Given the description of an element on the screen output the (x, y) to click on. 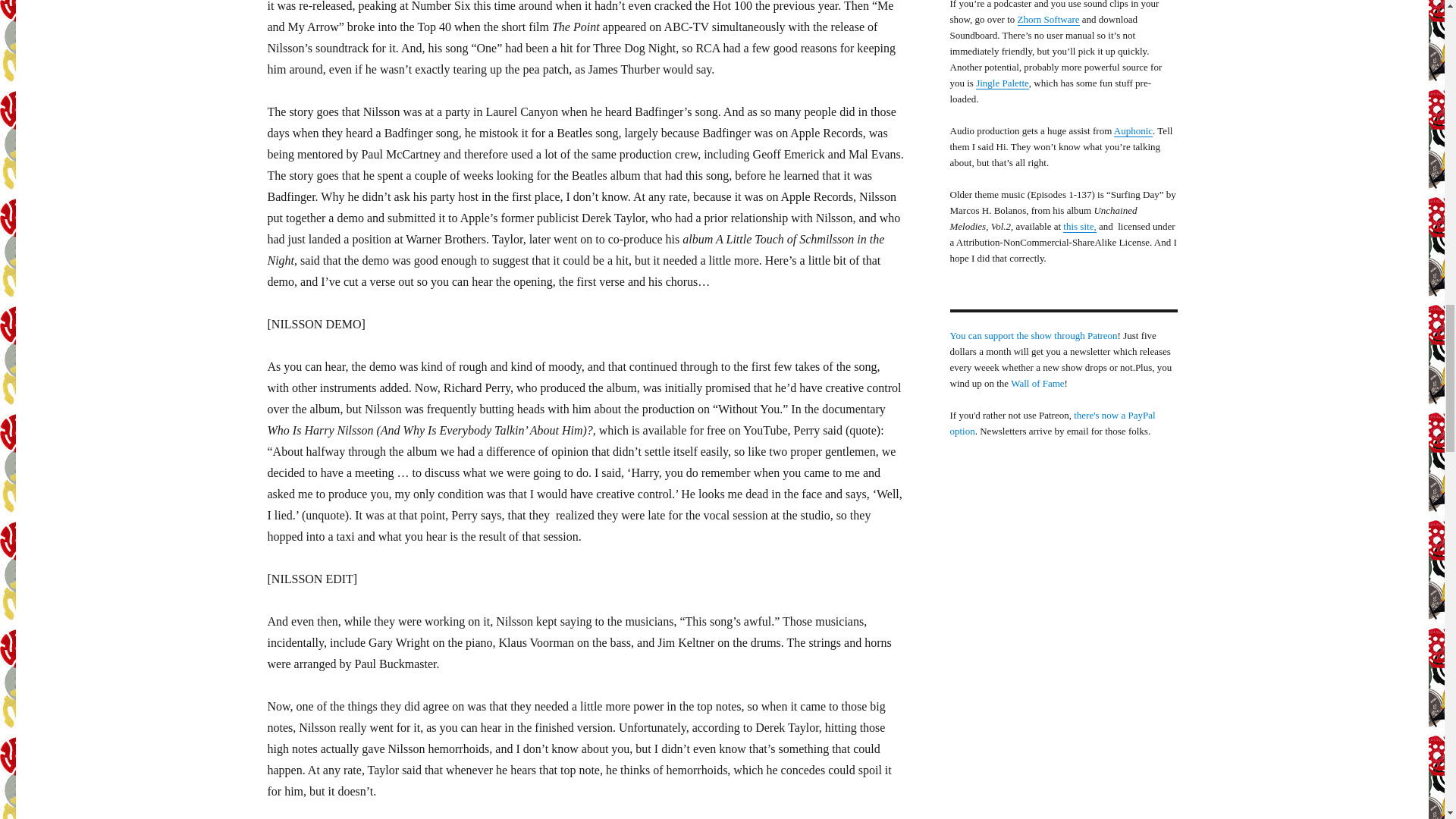
You can support the show through Patreon (1032, 335)
Auphonic (1133, 130)
Wall of Fame (1037, 383)
Zhorn Software (1048, 19)
Jingle Palette (1002, 82)
this site, (1079, 225)
there's now a PayPal option (1051, 422)
